Given the description of an element on the screen output the (x, y) to click on. 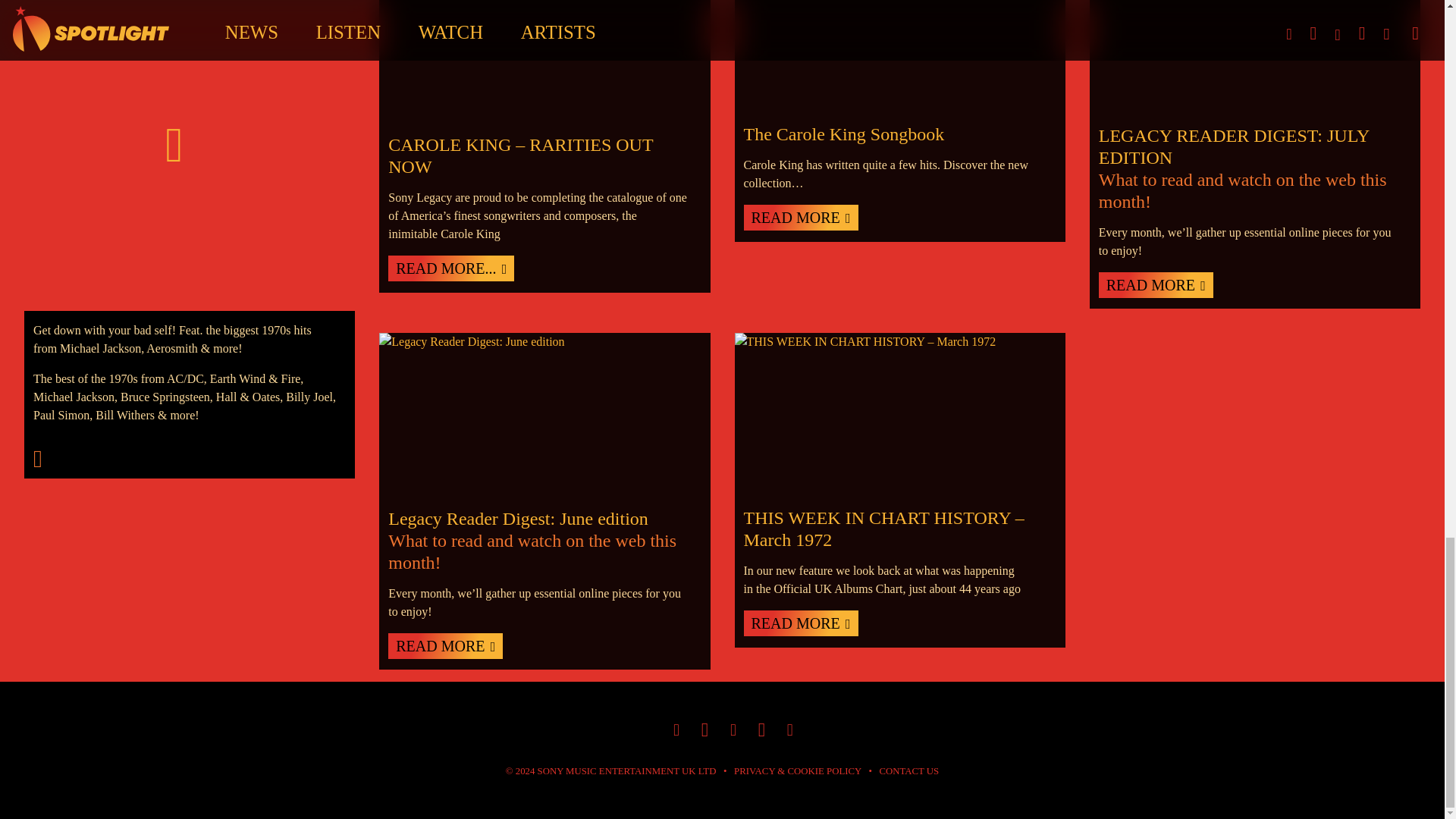
READ MORE... (450, 268)
Visit the Spotlight Facebook page (732, 730)
Visit the Spotlight TikTok page (704, 730)
CONTACT US (909, 770)
Visit the Spotlight Instagram page (675, 730)
READ MORE (1155, 284)
READ MORE (799, 623)
Visit the Spotlight Twitter page (761, 730)
READ MORE (445, 646)
READ MORE (799, 217)
Sign-up to the Spotlight Newsletter (790, 730)
